Given the description of an element on the screen output the (x, y) to click on. 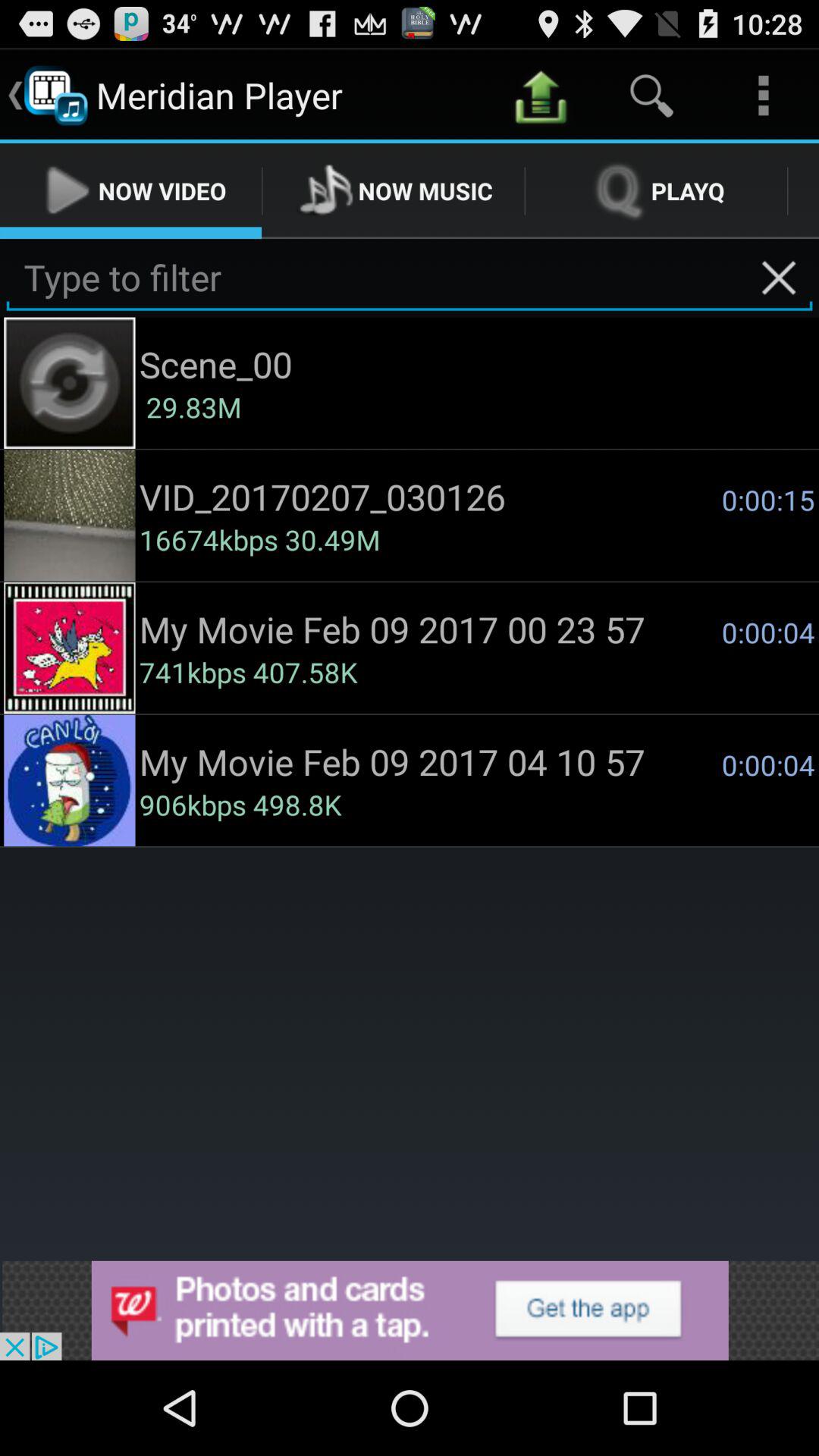
click on the dragon image (69, 647)
click on image left to text scene00 (69, 382)
click on the symbol left to search (540, 95)
click on search icon (651, 95)
click on play button (66, 190)
